Given the description of an element on the screen output the (x, y) to click on. 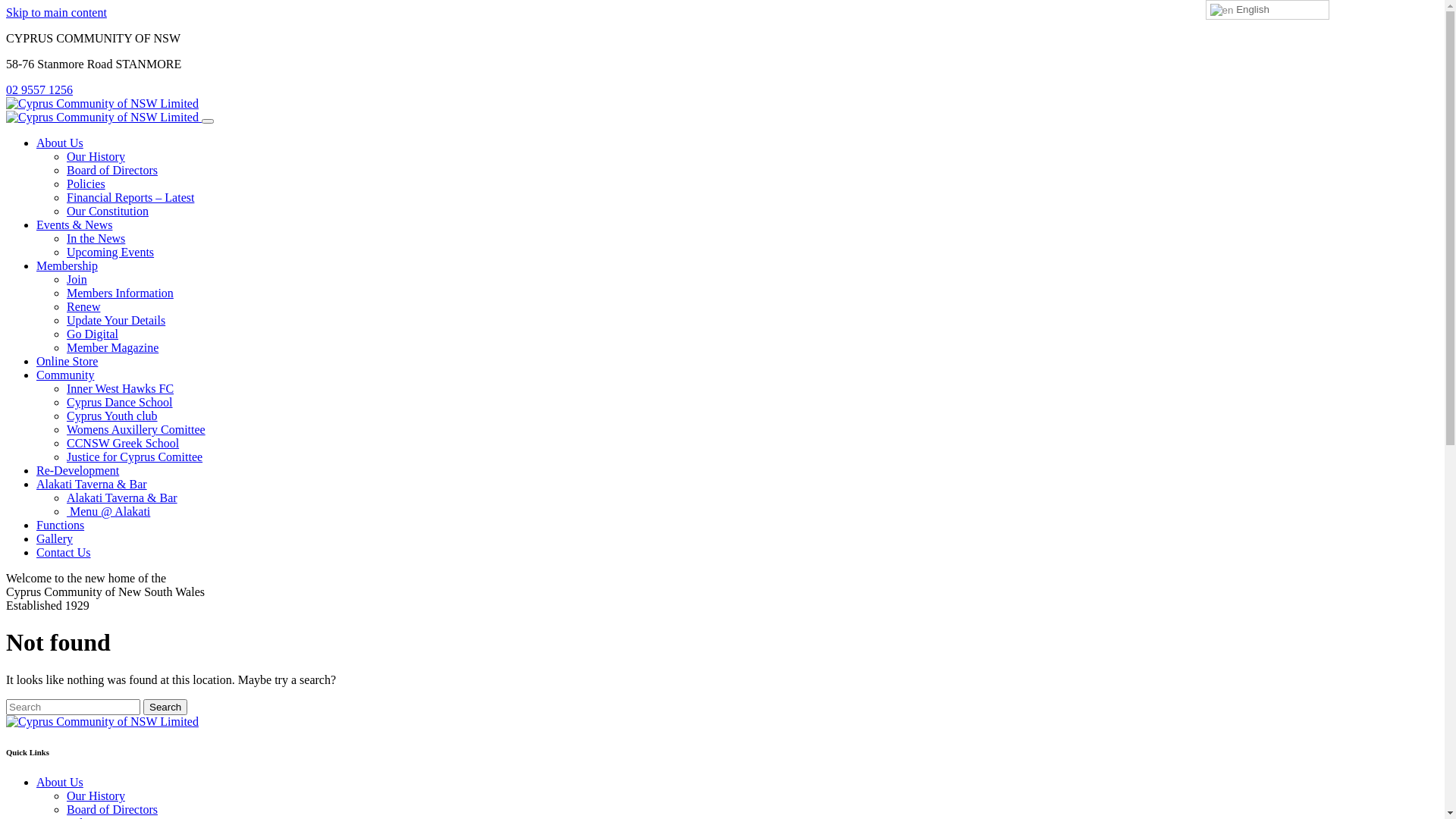
Inner West Hawks FC Element type: text (119, 388)
Re-Development Element type: text (77, 470)
Events & News Element type: text (74, 224)
Skip to main content Element type: text (56, 12)
Our Constitution Element type: text (107, 210)
Update Your Details Element type: text (115, 319)
Policies Element type: text (85, 183)
Cyprus Youth club Element type: text (111, 415)
Functions Element type: text (60, 524)
Cyprus Community of NSW Limited Element type: hover (103, 116)
Cyprus Community of NSW Limited Element type: hover (102, 103)
 Menu @ Alakati Element type: text (108, 511)
English Element type: text (1267, 9)
Womens Auxillery Comittee Element type: text (135, 429)
Justice for Cyprus Comittee Element type: text (134, 456)
Go Digital Element type: text (92, 333)
Alakati Taverna & Bar Element type: text (121, 497)
Search Element type: text (165, 707)
Online Store Element type: text (66, 360)
Cyprus Dance School Element type: text (119, 401)
Board of Directors Element type: text (111, 809)
Members Information Element type: text (119, 292)
Upcoming Events Element type: text (109, 251)
Gallery Element type: text (54, 538)
In the News Element type: text (95, 238)
About Us Element type: text (59, 781)
Alakati Taverna & Bar Element type: text (91, 483)
Renew Element type: text (83, 306)
Community Element type: text (65, 374)
Our History Element type: text (95, 156)
02 9557 1256 Element type: text (39, 89)
Membership Element type: text (66, 265)
Join Element type: text (76, 279)
Member Magazine Element type: text (112, 347)
Cyprus Community of NSW Limited Element type: hover (102, 721)
Board of Directors Element type: text (111, 169)
Our History Element type: text (95, 795)
Contact Us Element type: text (63, 552)
CCNSW Greek School Element type: text (122, 442)
About Us Element type: text (59, 142)
